Given the description of an element on the screen output the (x, y) to click on. 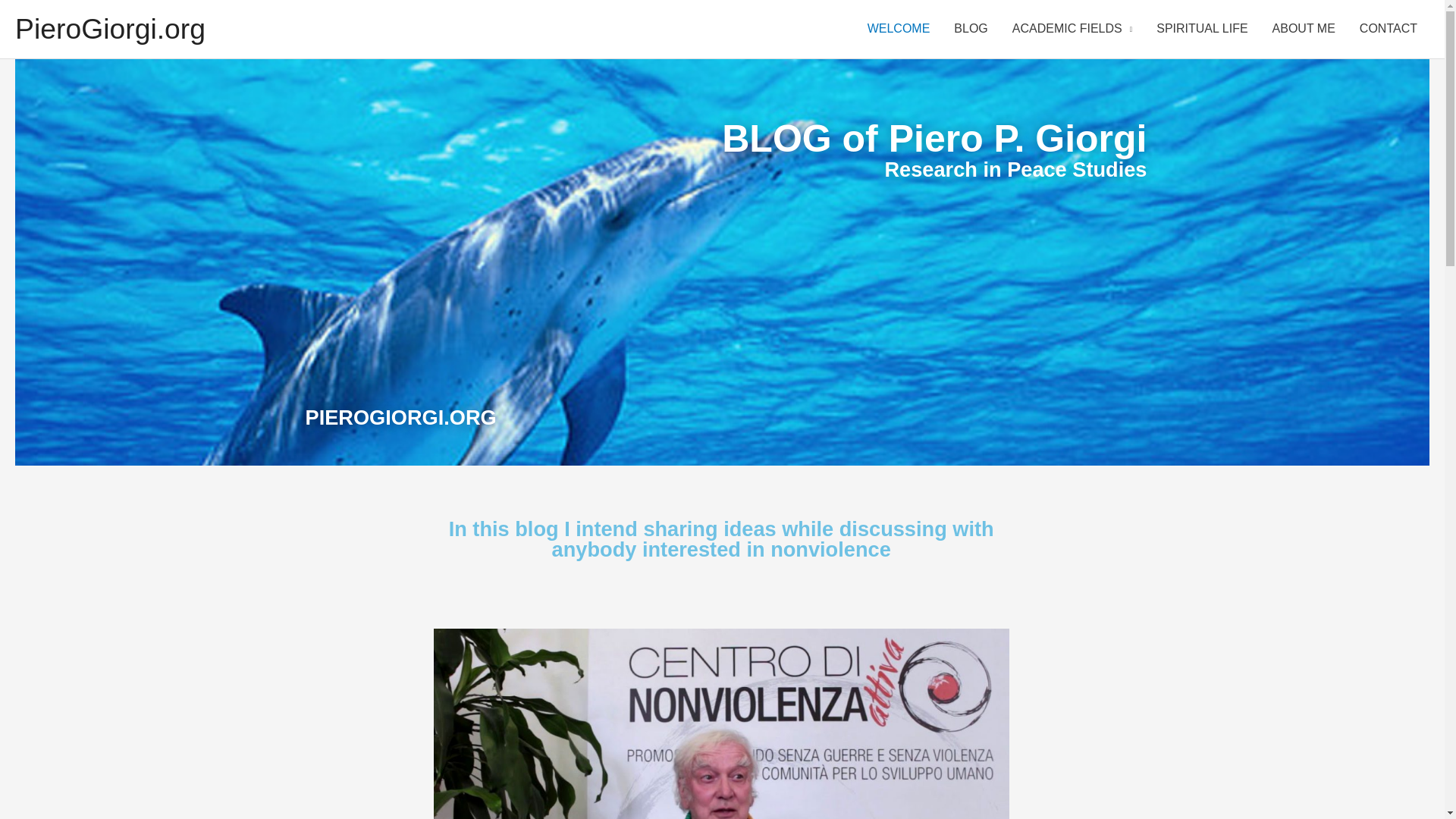
PieroGiorgi.org (109, 29)
SPIRITUAL LIFE (1201, 29)
WELCOME (899, 29)
CONTACT (1388, 29)
BLOG (970, 29)
ACADEMIC FIELDS (1072, 29)
ABOUT ME (1304, 29)
